Given the description of an element on the screen output the (x, y) to click on. 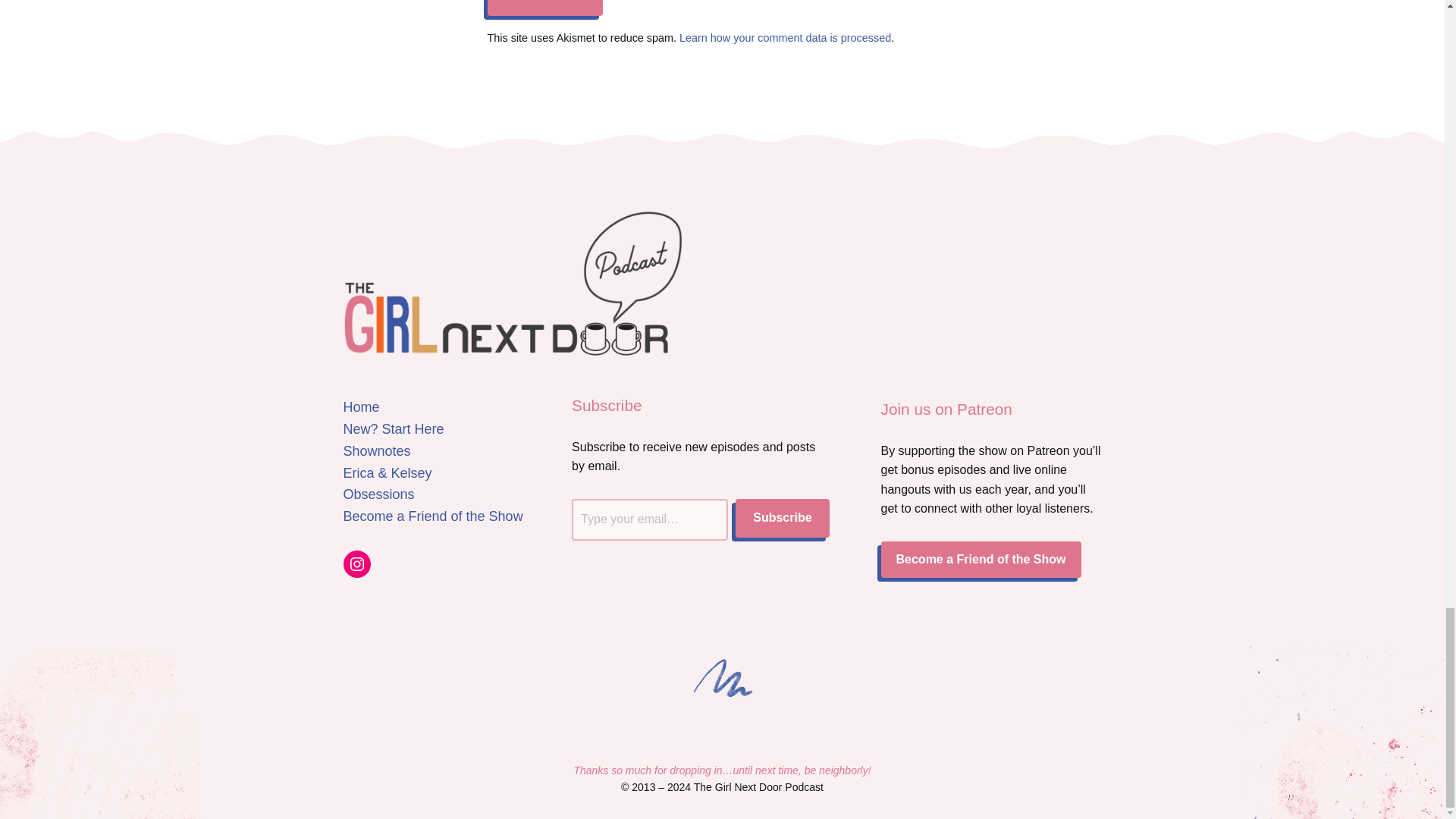
New? Start Here (393, 428)
Post Comment (544, 7)
Shownotes (376, 450)
Please fill in this field. (650, 519)
Home (360, 406)
Post Comment (544, 7)
Learn how your comment data is processed (785, 37)
